Given the description of an element on the screen output the (x, y) to click on. 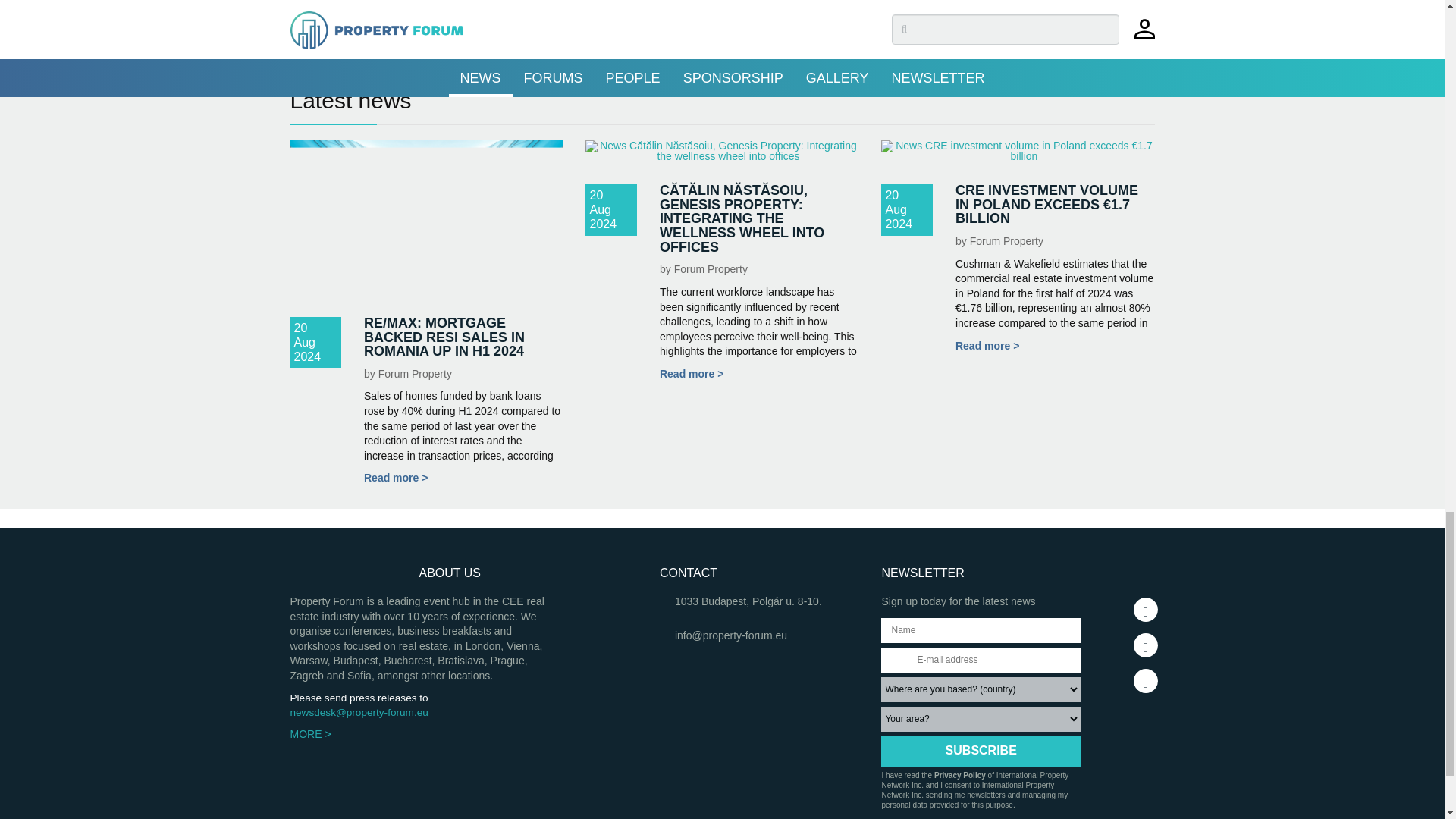
Budapest (438, 16)
 SUBSCRIBE  (980, 751)
BRF (403, 16)
